Given the description of an element on the screen output the (x, y) to click on. 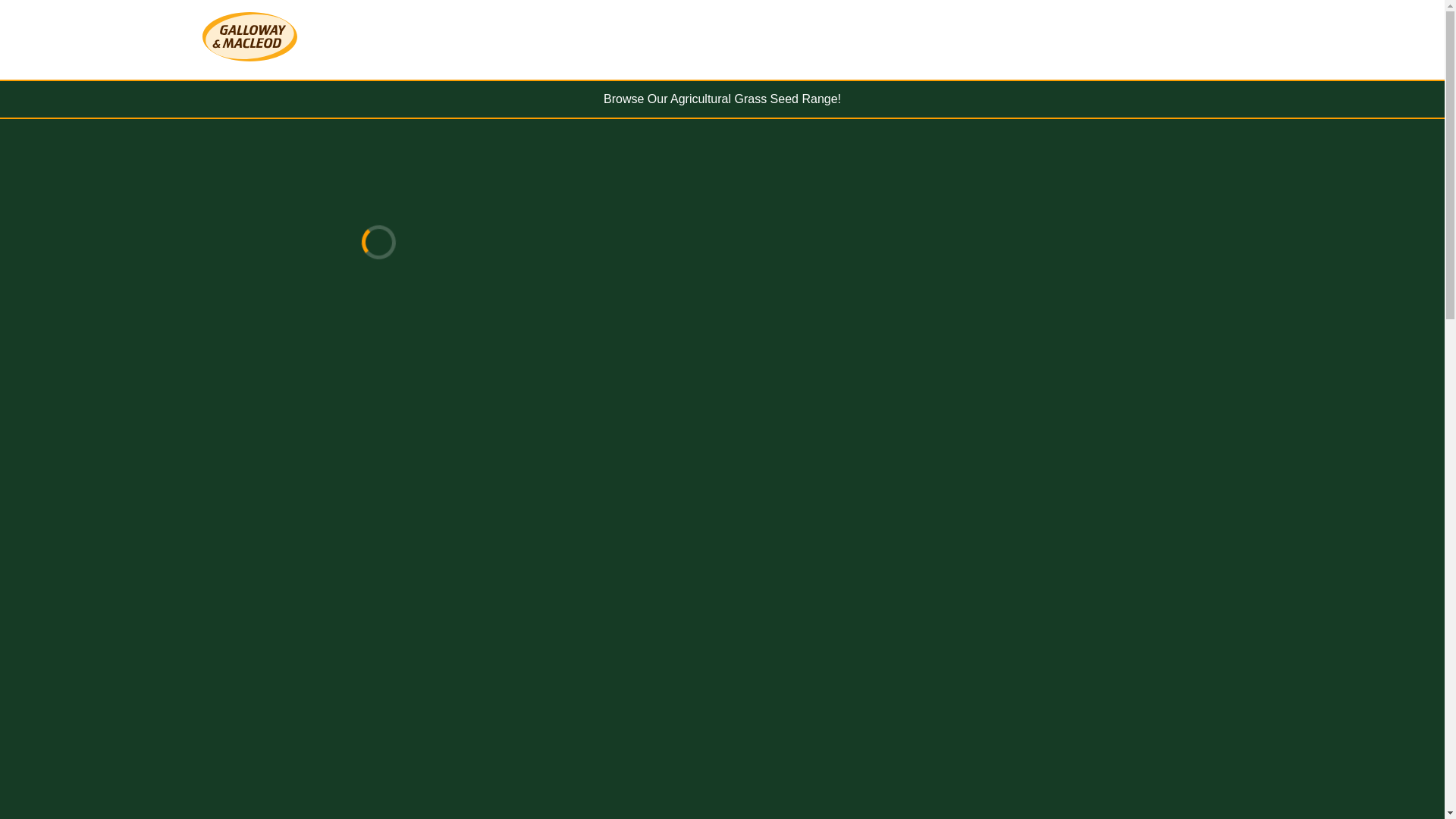
Grass Seed (722, 98)
